Given the description of an element on the screen output the (x, y) to click on. 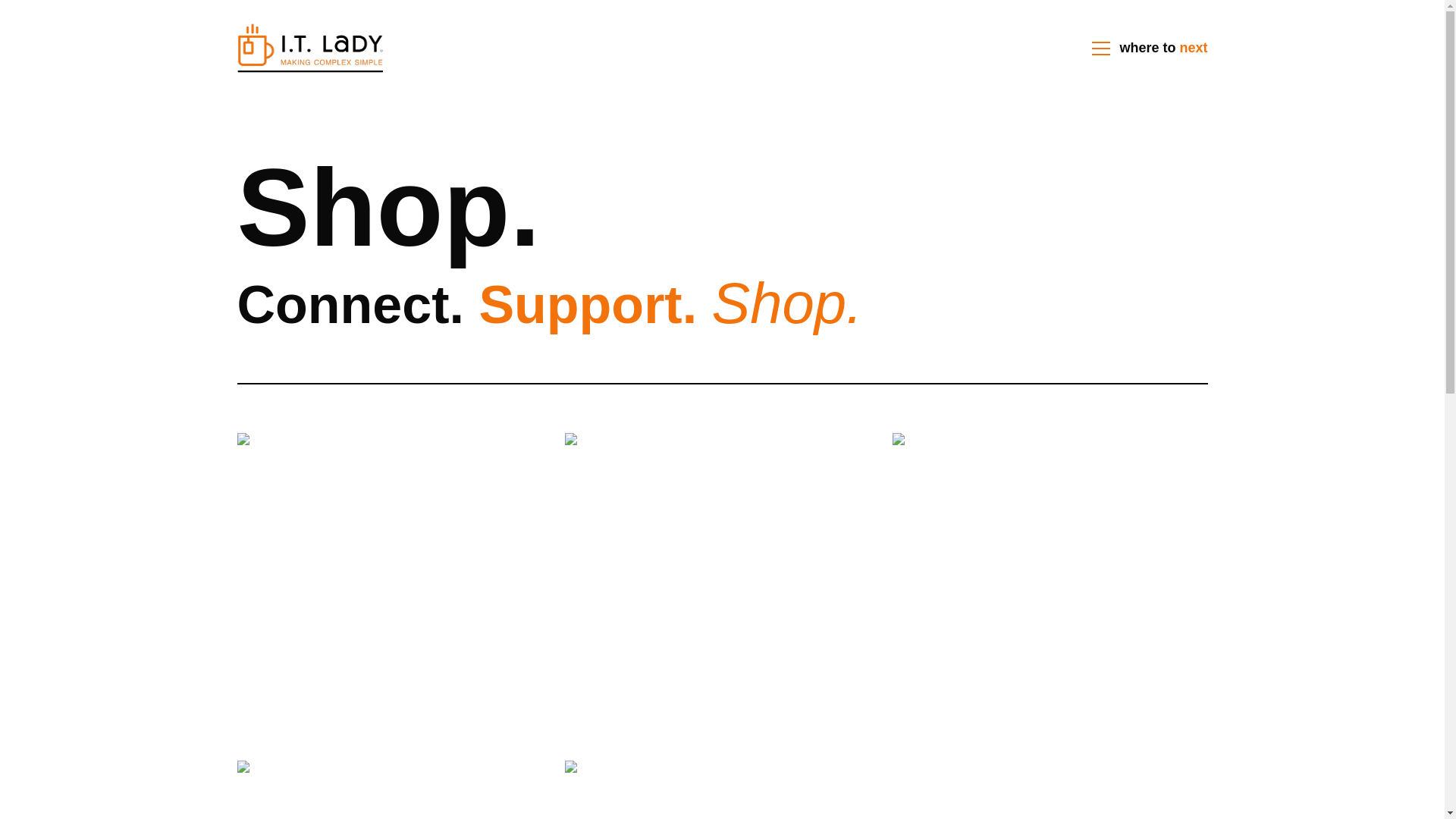
Homepage Element type: hover (309, 47)
